Given the description of an element on the screen output the (x, y) to click on. 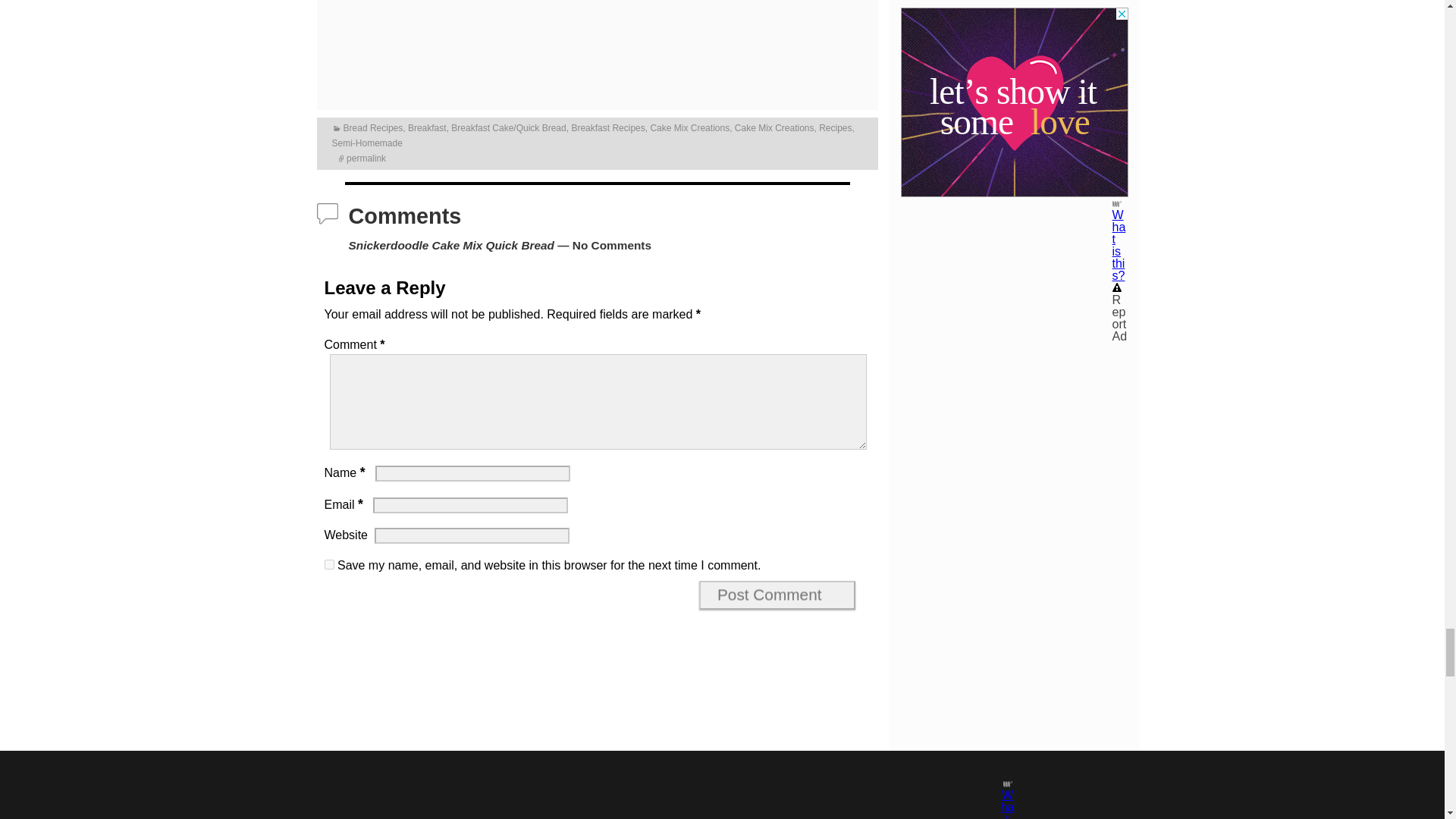
yes (329, 564)
Post Comment (777, 594)
